Given the description of an element on the screen output the (x, y) to click on. 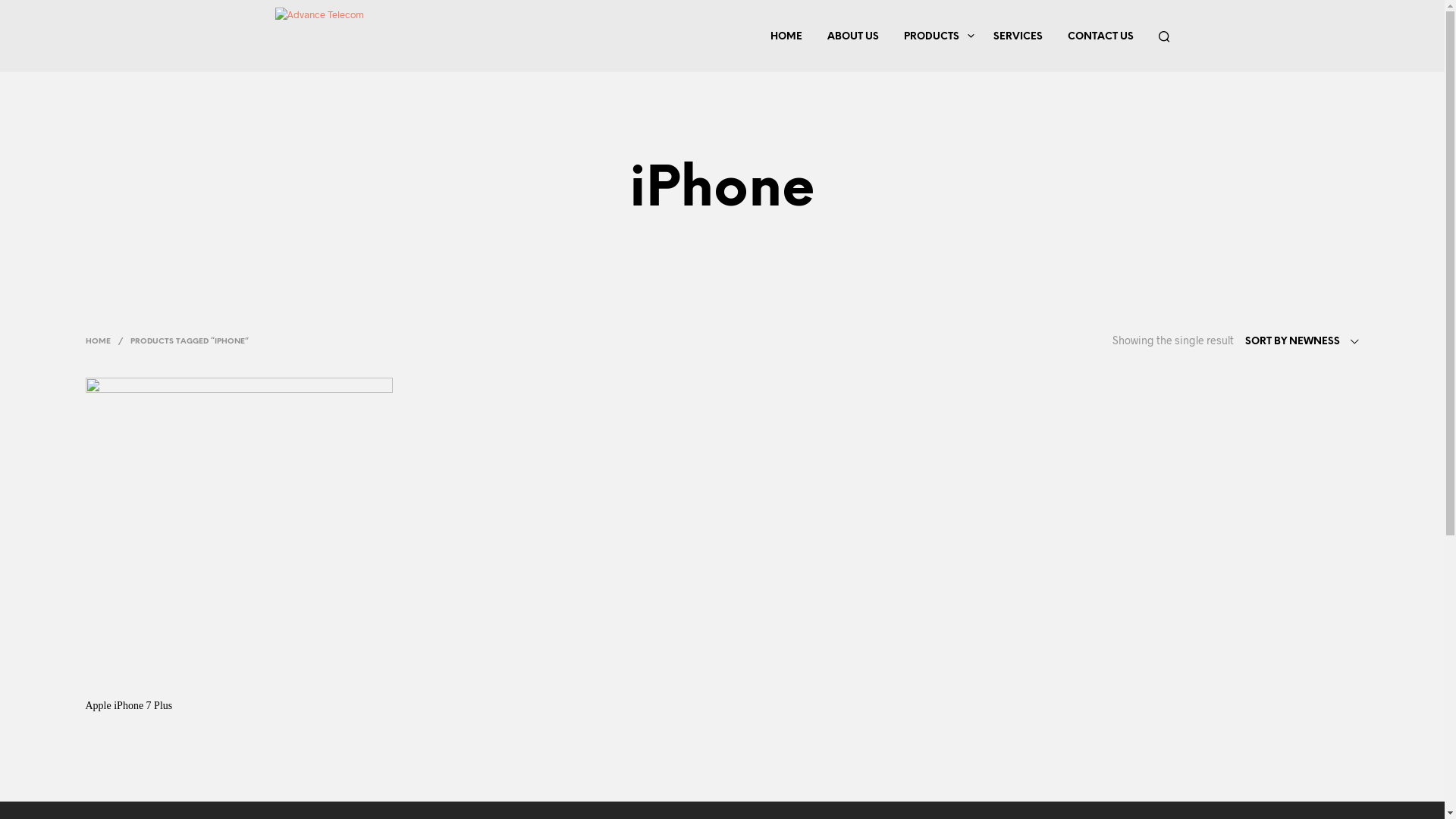
HOME Element type: text (785, 36)
PRODUCTS Element type: text (930, 36)
SERVICES Element type: text (1017, 36)
ABOUT US Element type: text (852, 36)
HOME Element type: text (99, 341)
CONTACT US Element type: text (1099, 36)
Apple iPhone 7 Plus Element type: text (128, 705)
SORT BY NEWNESS Element type: text (1302, 341)
Advance Telecom Element type: hover (318, 35)
